Given the description of an element on the screen output the (x, y) to click on. 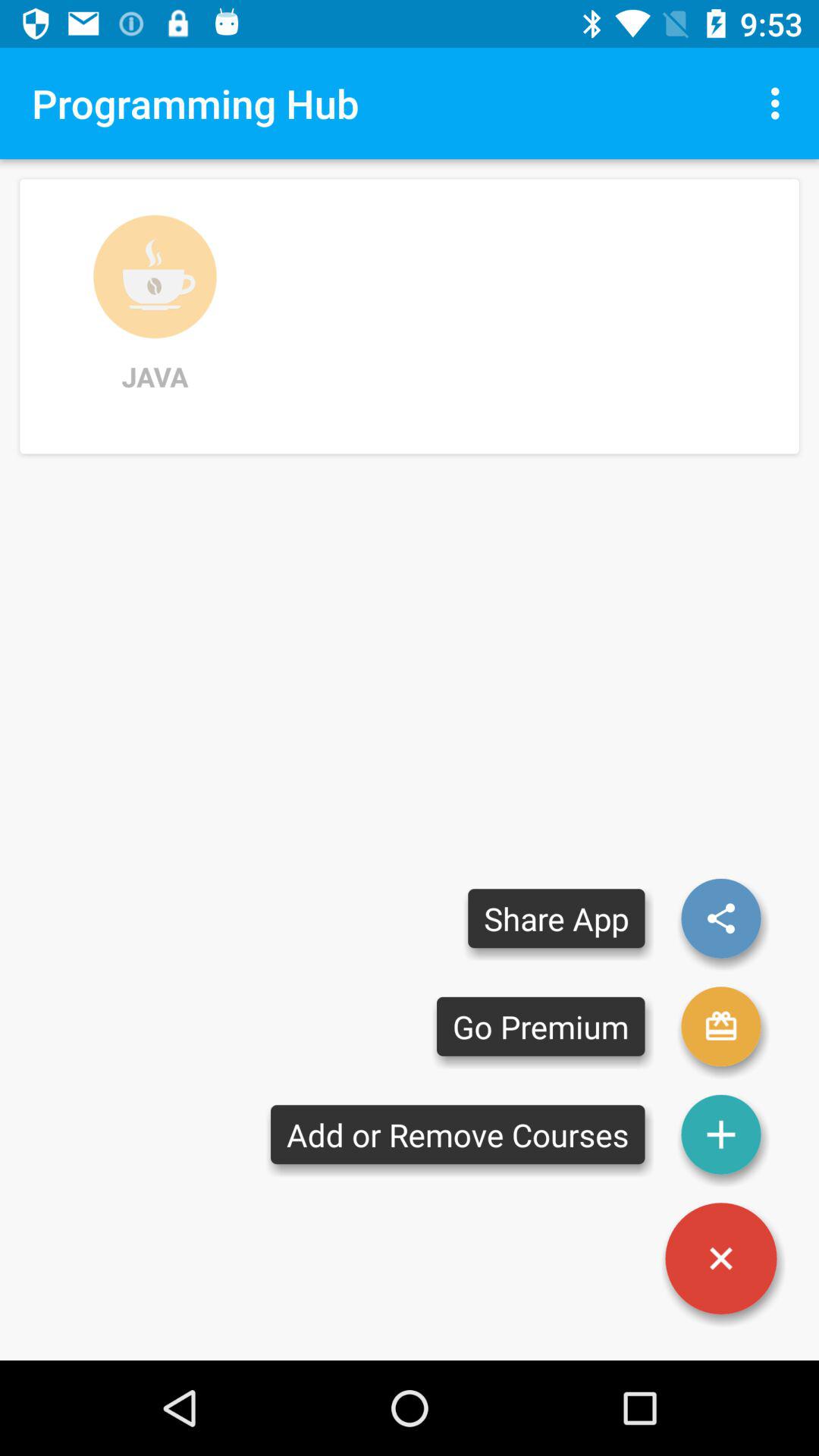
share (721, 918)
